Given the description of an element on the screen output the (x, y) to click on. 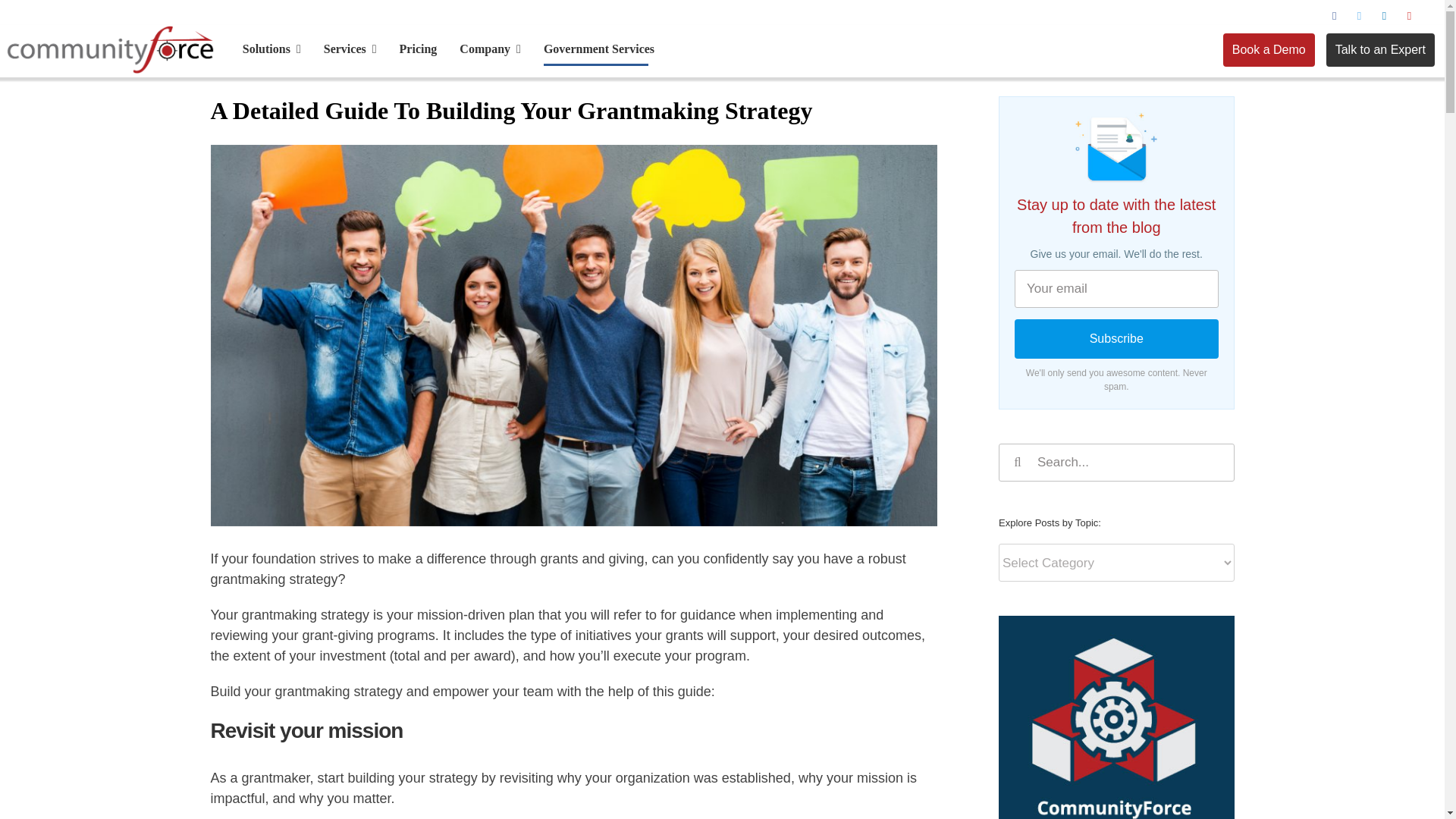
Company (490, 48)
Book a Demo (1268, 49)
Solutions (272, 48)
Talk to an Expert (1380, 49)
Government Services (598, 48)
Subscribe (1116, 338)
Services (350, 48)
